Given the description of an element on the screen output the (x, y) to click on. 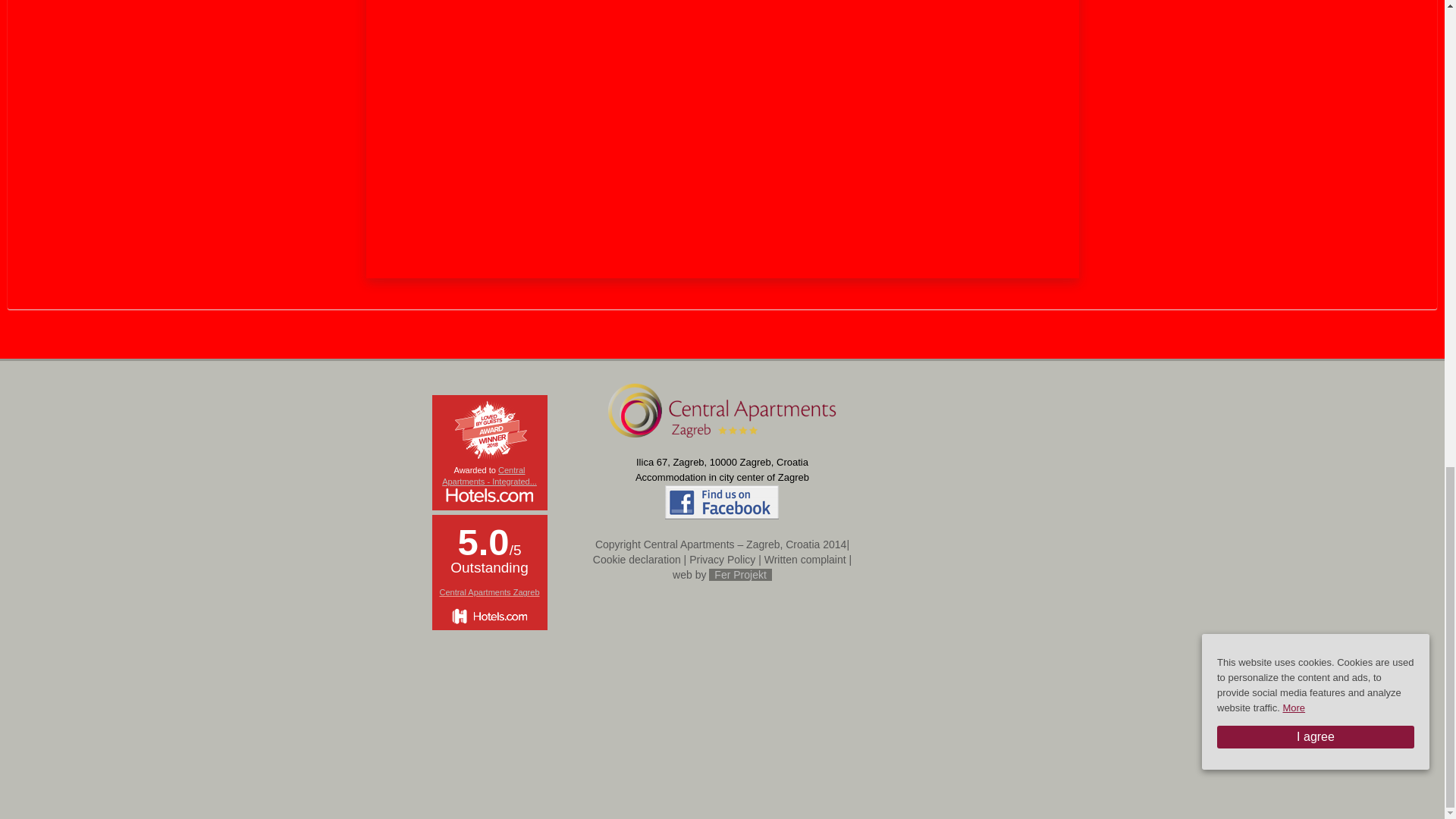
Central Apartments - Integrated hotel (489, 476)
Privacy Policy (721, 559)
Fer Projekt (740, 574)
Central Apartments Zagreb (488, 592)
Central Apartments Zagreb (488, 592)
Written complaint (804, 559)
Central Apartments - Integrated... (489, 476)
Cookie declaration (636, 559)
